Given the description of an element on the screen output the (x, y) to click on. 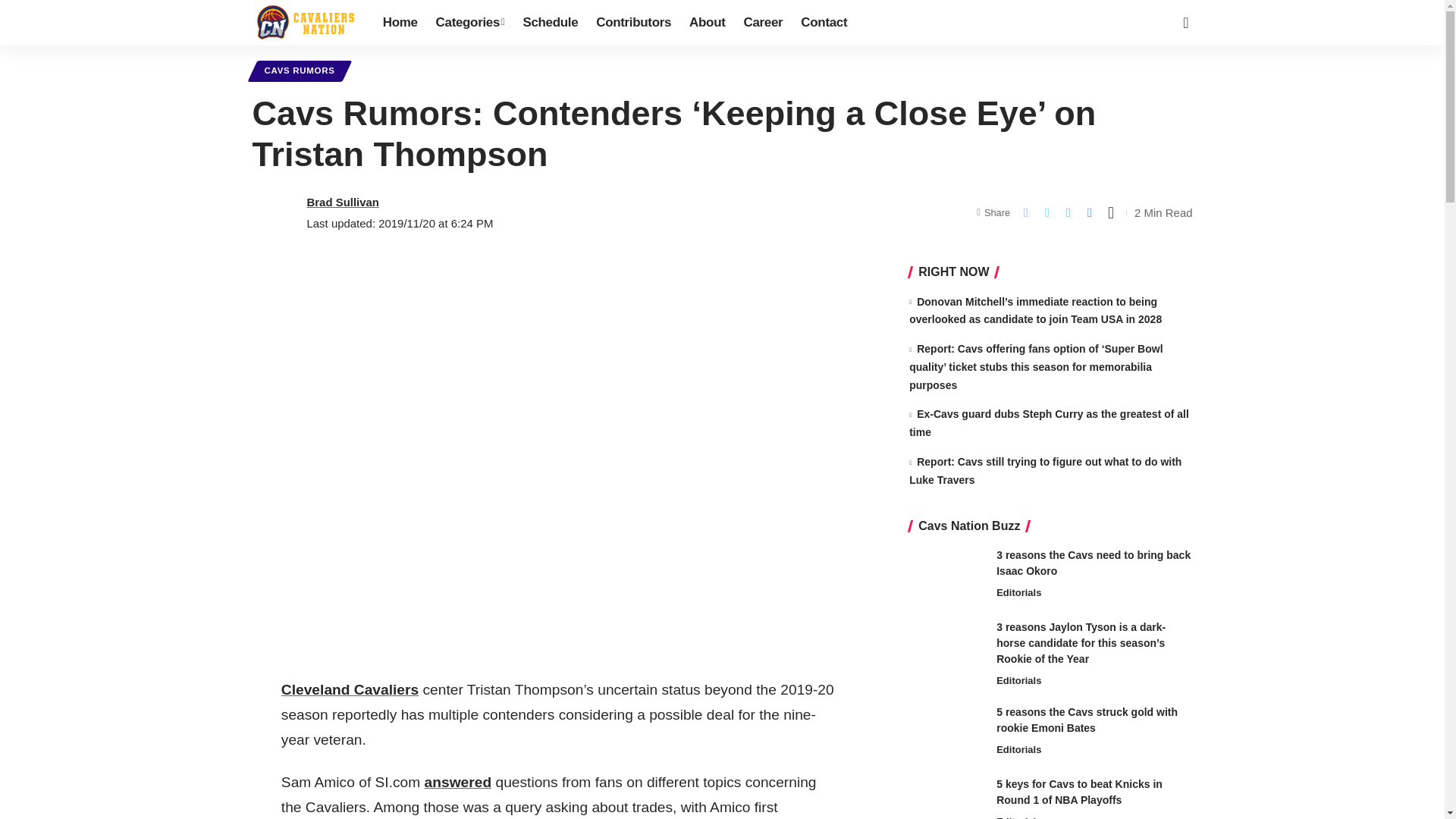
5 reasons the Cavs struck gold with rookie Emoni Bates (946, 732)
Categories (469, 22)
Contact (824, 22)
Brad Sullivan (341, 201)
Cavaliers Nation (304, 22)
CAVS RUMORS (298, 70)
Cleveland Cavaliers (350, 689)
Contributors (632, 22)
Cleveland Cavaliers (350, 689)
Categories (469, 22)
